Given the description of an element on the screen output the (x, y) to click on. 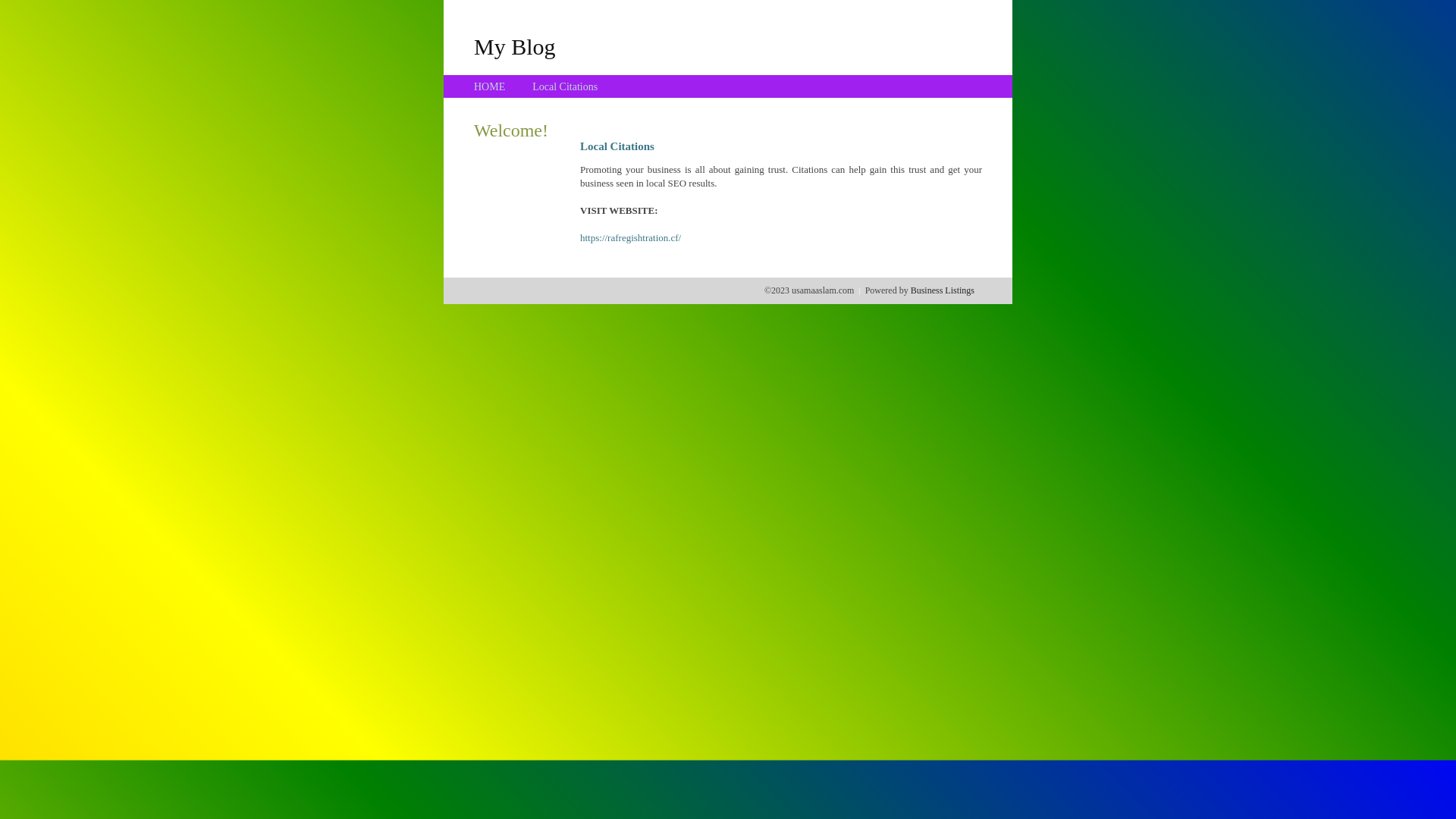
https://rafregishtration.cf/ Element type: text (630, 237)
Business Listings Element type: text (942, 290)
Local Citations Element type: text (564, 86)
HOME Element type: text (489, 86)
My Blog Element type: text (514, 46)
